Given the description of an element on the screen output the (x, y) to click on. 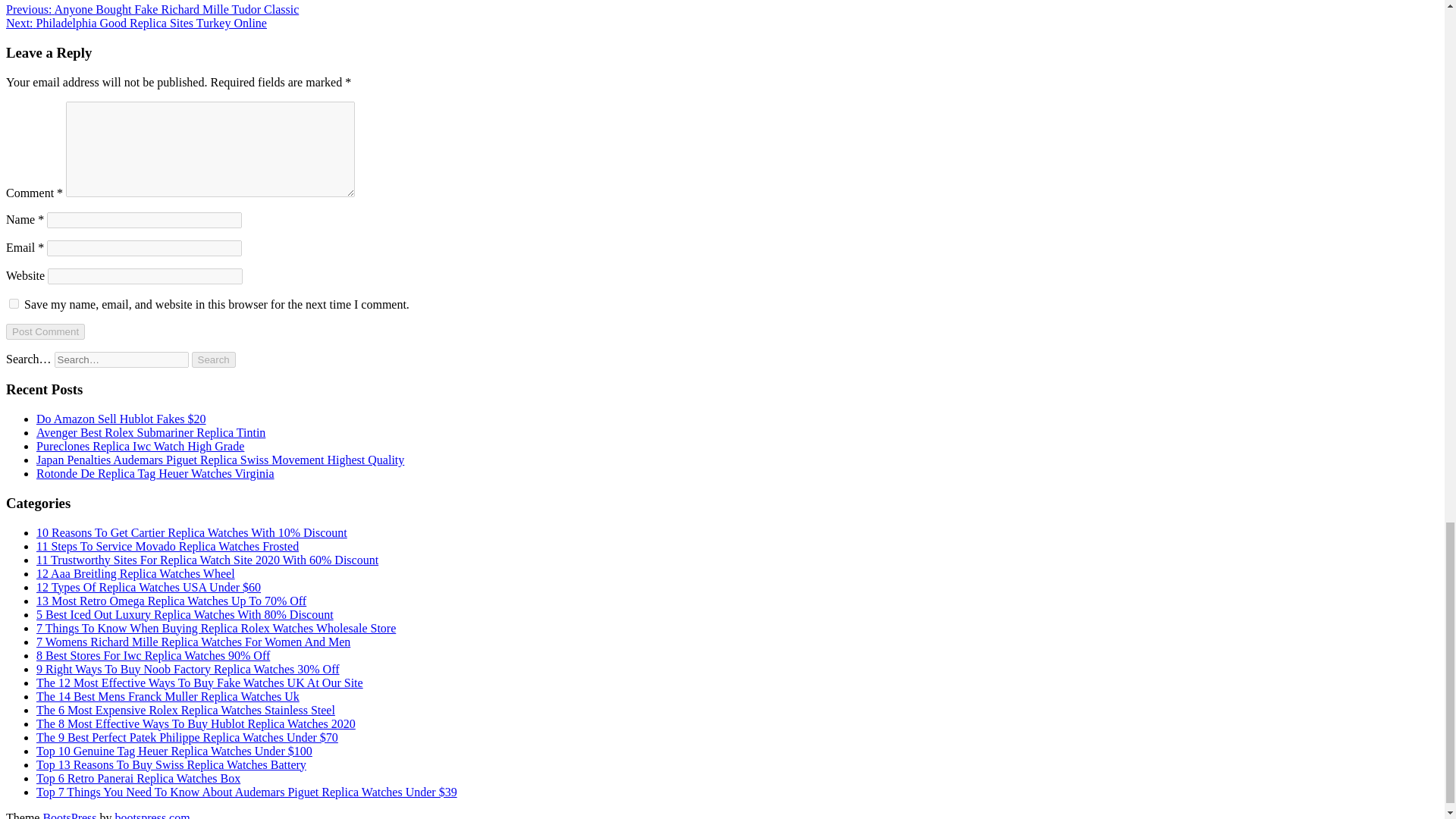
Top 6 Retro Panerai Replica Watches Box (138, 778)
Avenger Best Rolex Submariner Replica Tintin (150, 431)
The 8 Most Effective Ways To Buy Hublot Replica Watches 2020 (195, 723)
Pureclones Replica Iwc Watch High Grade (140, 445)
yes (13, 303)
The 14 Best Mens Franck Muller Replica Watches Uk (167, 696)
Top 13 Reasons To Buy Swiss Replica Watches Battery (170, 764)
Post Comment (44, 331)
Search (213, 359)
